Given the description of an element on the screen output the (x, y) to click on. 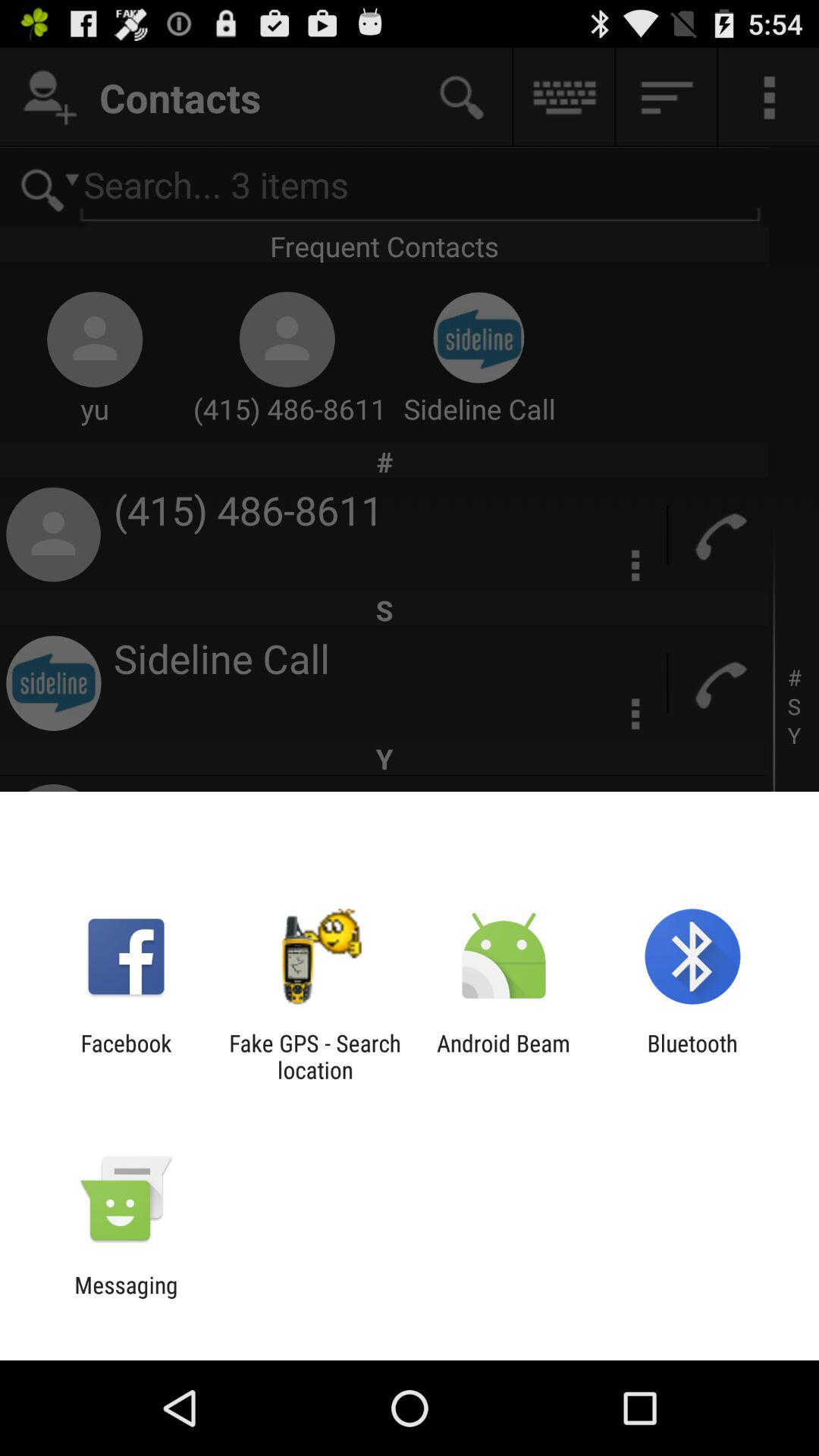
turn on the app at the bottom right corner (692, 1056)
